Given the description of an element on the screen output the (x, y) to click on. 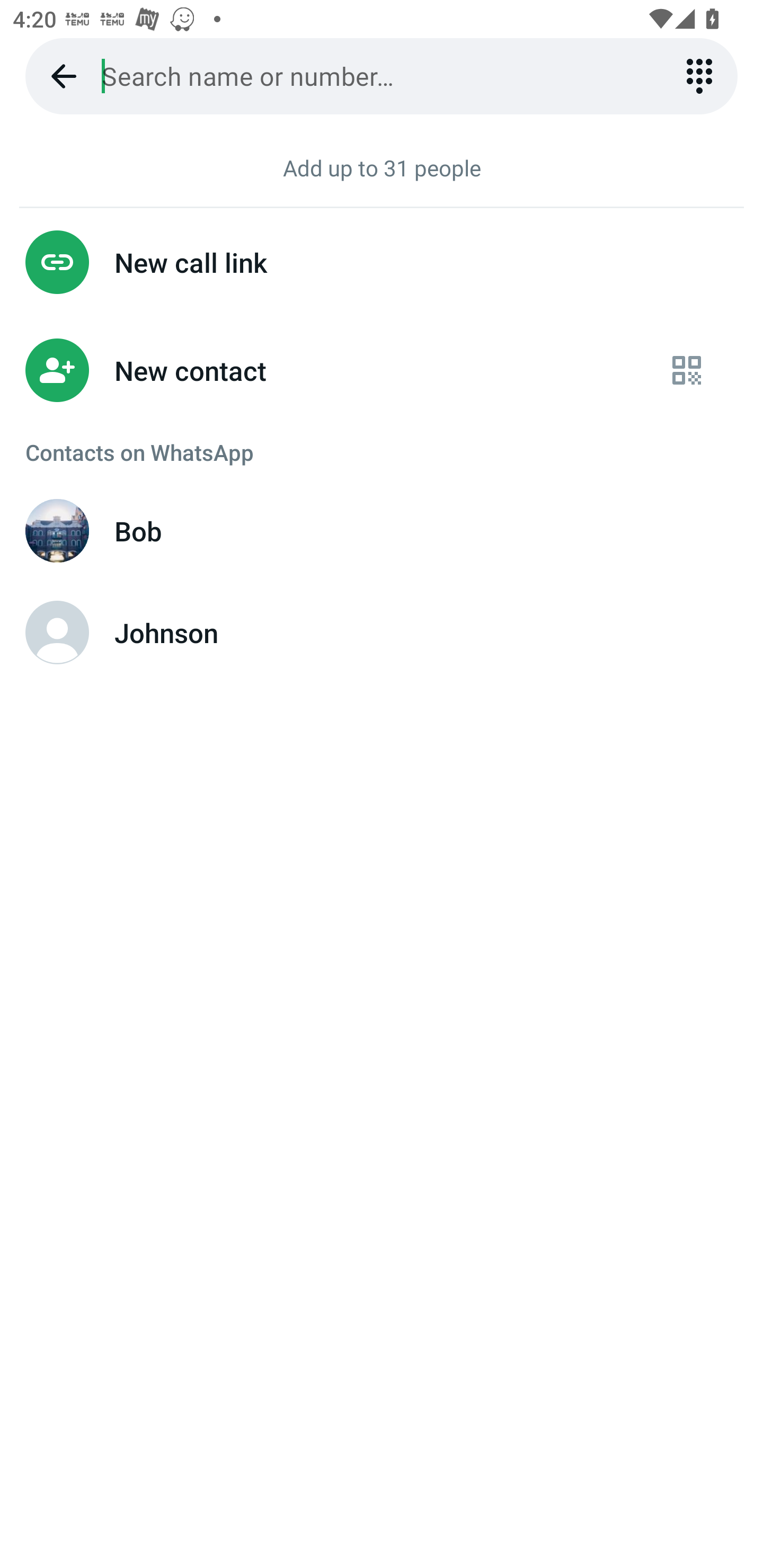
Search name or number… (381, 75)
Show dial pad keyboard (699, 75)
New call link (381, 262)
New contact Scan, share QR code (381, 370)
Scan, share QR code (686, 370)
Contacts on WhatsApp (381, 451)
Bob (381, 530)
Johnson (381, 632)
